Given the description of an element on the screen output the (x, y) to click on. 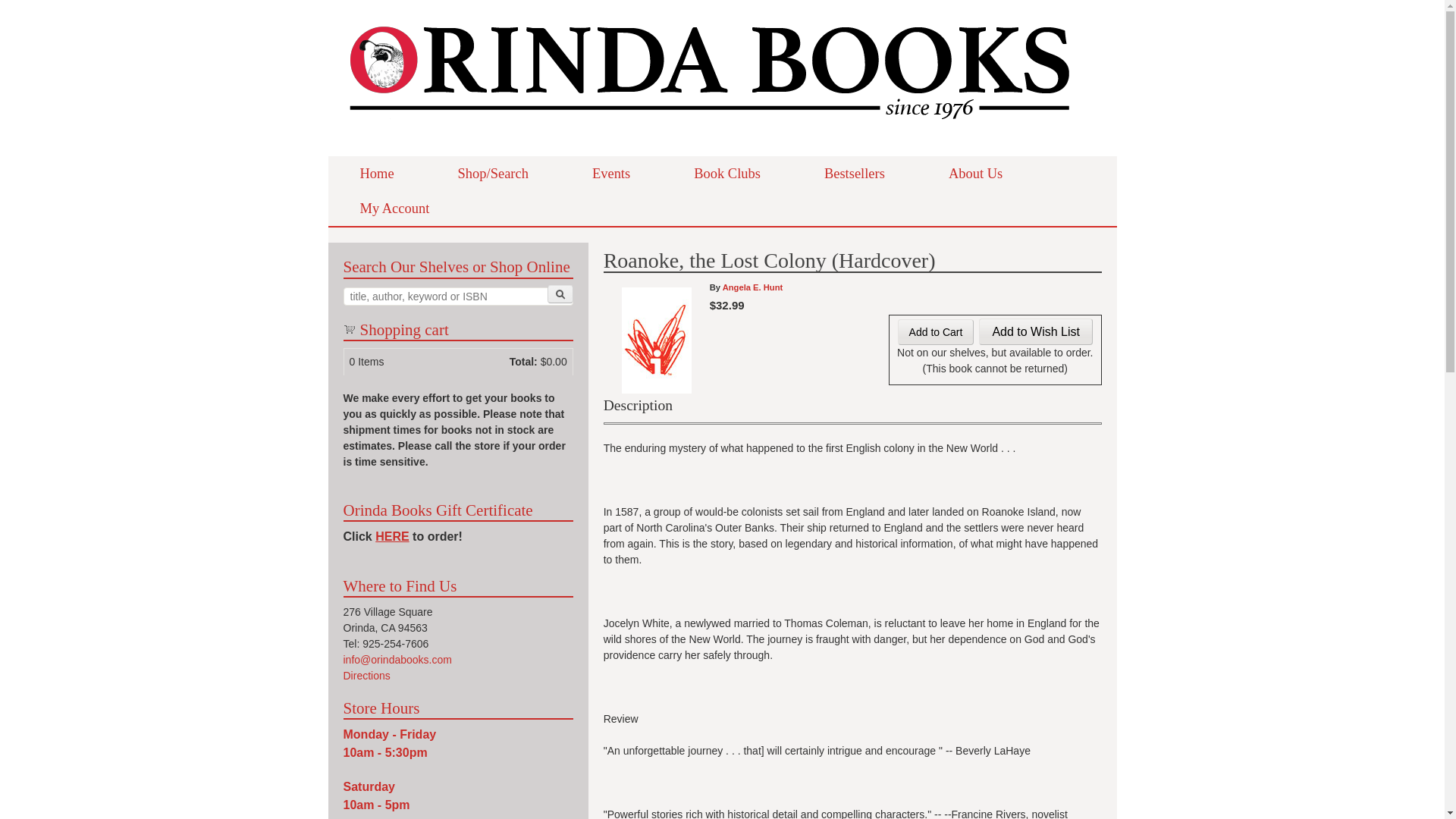
Home page (709, 132)
Book Clubs (727, 173)
About Us (975, 173)
Directions (366, 675)
View your shopping cart. (348, 328)
Bestsellers (854, 173)
Search (560, 294)
HERE (392, 535)
Add to Cart (936, 331)
